Given the description of an element on the screen output the (x, y) to click on. 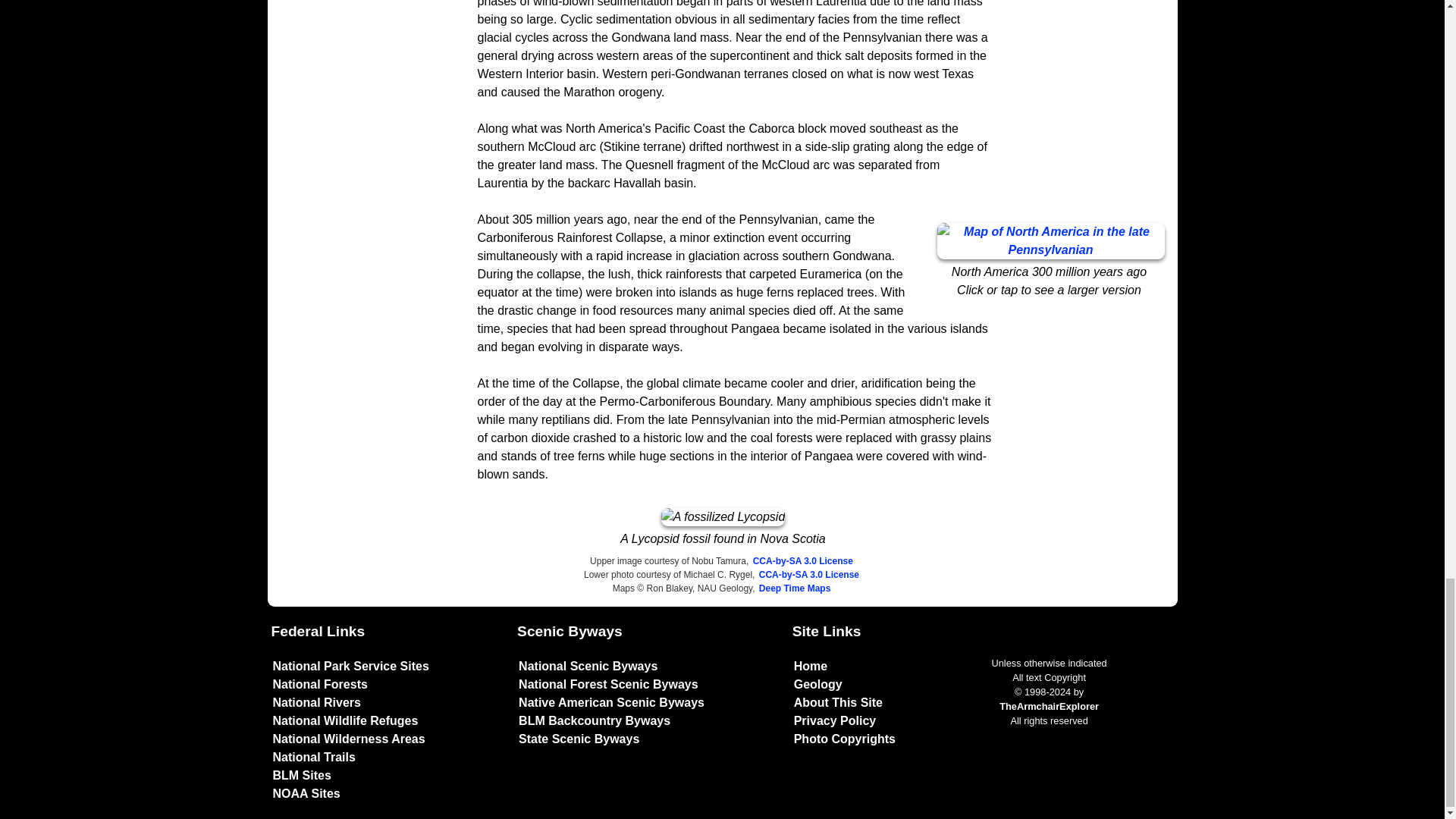
click or tap to see a larger version (1050, 240)
A lycopsid fossil from Pennsylvanian times (723, 516)
